Given the description of an element on the screen output the (x, y) to click on. 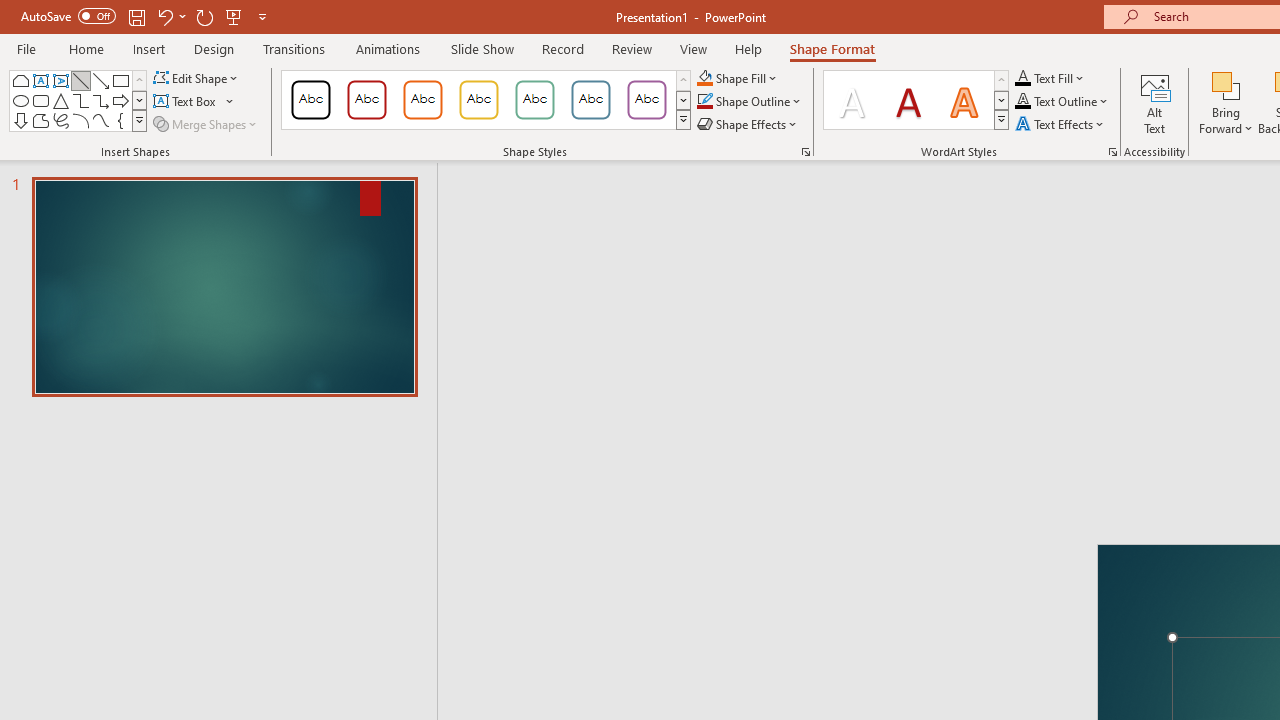
Shape Fill Orange, Accent 2 (704, 78)
Rectangle: Rounded Corners (40, 100)
Shape Effects (748, 124)
Text Fill RGB(0, 0, 0) (1023, 78)
Text Effects (1061, 124)
Text Outline RGB(0, 0, 0) (1023, 101)
Arrow: Down (20, 120)
Shape Fill (737, 78)
Text Box (40, 80)
Class: NetUIImage (1002, 119)
Isosceles Triangle (60, 100)
